Given the description of an element on the screen output the (x, y) to click on. 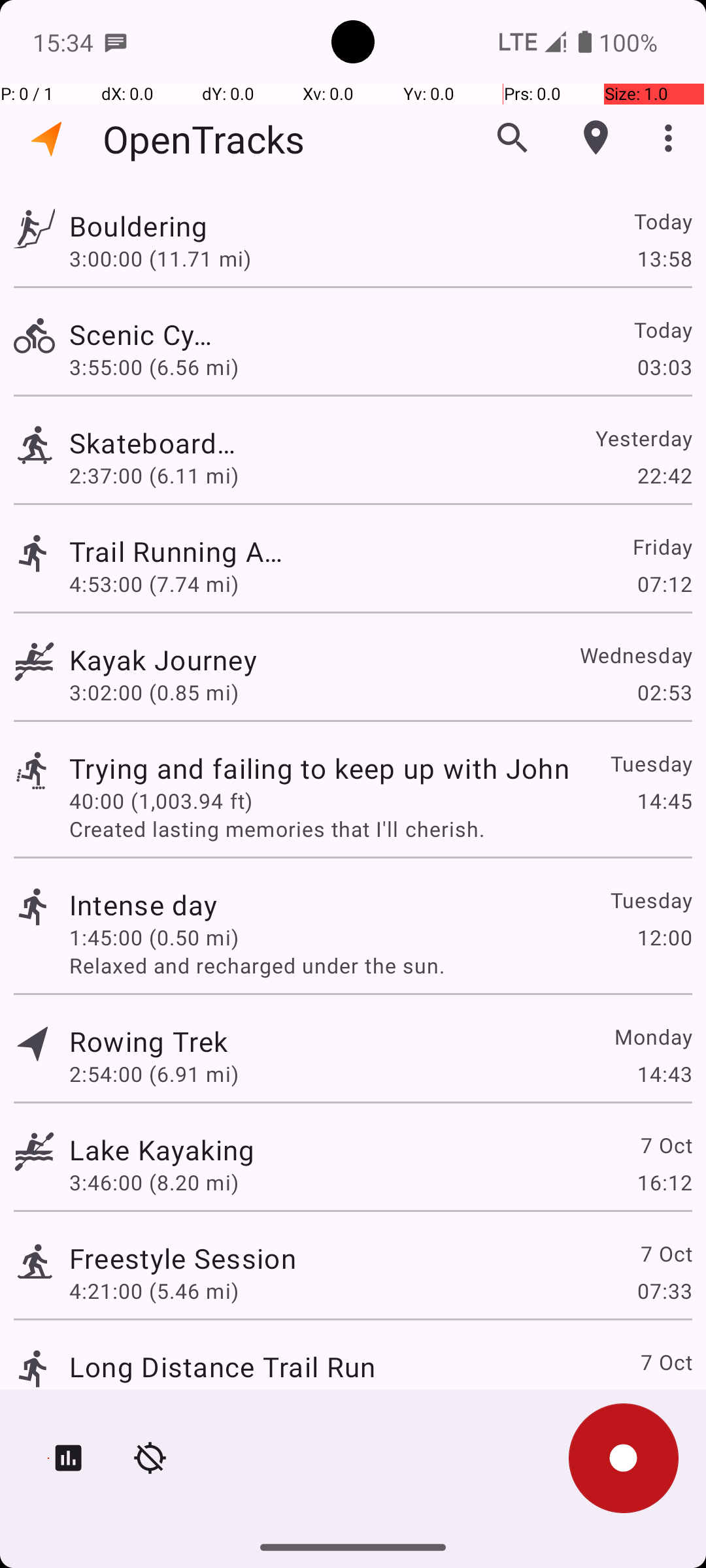
Bouldering Element type: android.widget.TextView (143, 225)
3:00:00 (11.71 mi) Element type: android.widget.TextView (159, 258)
13:58 Element type: android.widget.TextView (664, 258)
Scenic Cycling Element type: android.widget.TextView (148, 333)
3:55:00 (6.56 mi) Element type: android.widget.TextView (153, 366)
03:03 Element type: android.widget.TextView (664, 366)
Skateboard Challenge Element type: android.widget.TextView (161, 442)
2:37:00 (6.11 mi) Element type: android.widget.TextView (153, 475)
22:42 Element type: android.widget.TextView (664, 475)
Trail Running Adventure Element type: android.widget.TextView (182, 550)
4:53:00 (7.74 mi) Element type: android.widget.TextView (153, 583)
07:12 Element type: android.widget.TextView (664, 583)
Kayak Journey Element type: android.widget.TextView (221, 659)
3:02:00 (0.85 mi) Element type: android.widget.TextView (153, 692)
02:53 Element type: android.widget.TextView (664, 692)
Trying and failing to keep up with John Element type: android.widget.TextView (319, 767)
40:00 (1,003.94 ft) Element type: android.widget.TextView (160, 800)
14:45 Element type: android.widget.TextView (664, 800)
Created lasting memories that I'll cherish. Element type: android.widget.TextView (380, 828)
Intense day Element type: android.widget.TextView (143, 904)
1:45:00 (0.50 mi) Element type: android.widget.TextView (153, 937)
Relaxed and recharged under the sun. Element type: android.widget.TextView (380, 965)
Rowing Trek Element type: android.widget.TextView (148, 1040)
2:54:00 (6.91 mi) Element type: android.widget.TextView (153, 1073)
14:43 Element type: android.widget.TextView (664, 1073)
Lake Kayaking Element type: android.widget.TextView (161, 1149)
3:46:00 (8.20 mi) Element type: android.widget.TextView (153, 1182)
16:12 Element type: android.widget.TextView (664, 1182)
Freestyle Session Element type: android.widget.TextView (182, 1257)
4:21:00 (5.46 mi) Element type: android.widget.TextView (153, 1290)
07:33 Element type: android.widget.TextView (664, 1290)
Long Distance Trail Run Element type: android.widget.TextView (221, 1366)
1:51:00 (5.02 mi) Element type: android.widget.TextView (153, 1399)
05:04 Element type: android.widget.TextView (664, 1399)
